Given the description of an element on the screen output the (x, y) to click on. 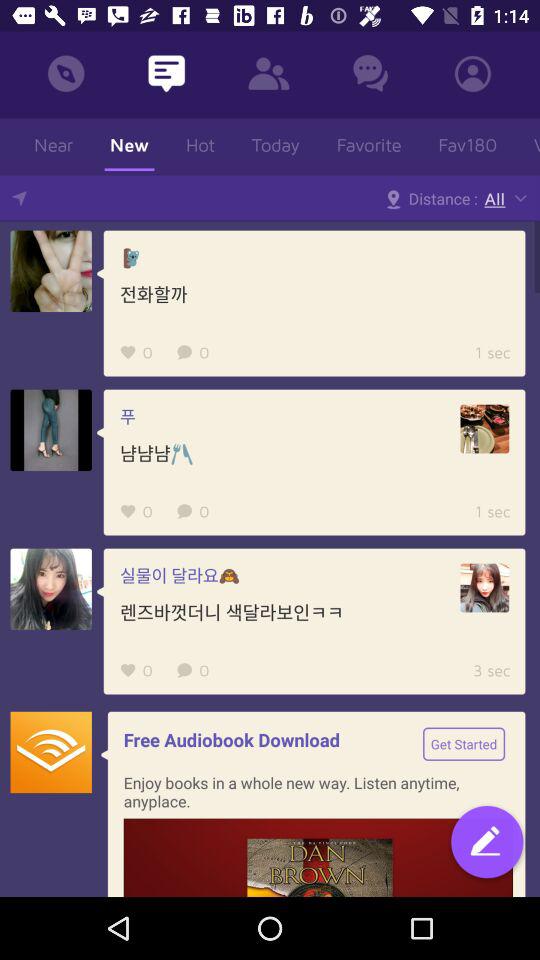
click on the first comment icon in first feed (184, 351)
select the favorite icon from the last but one row (127, 669)
click on the second icon from right (370, 73)
click on the first image on the right (485, 429)
